Given the description of an element on the screen output the (x, y) to click on. 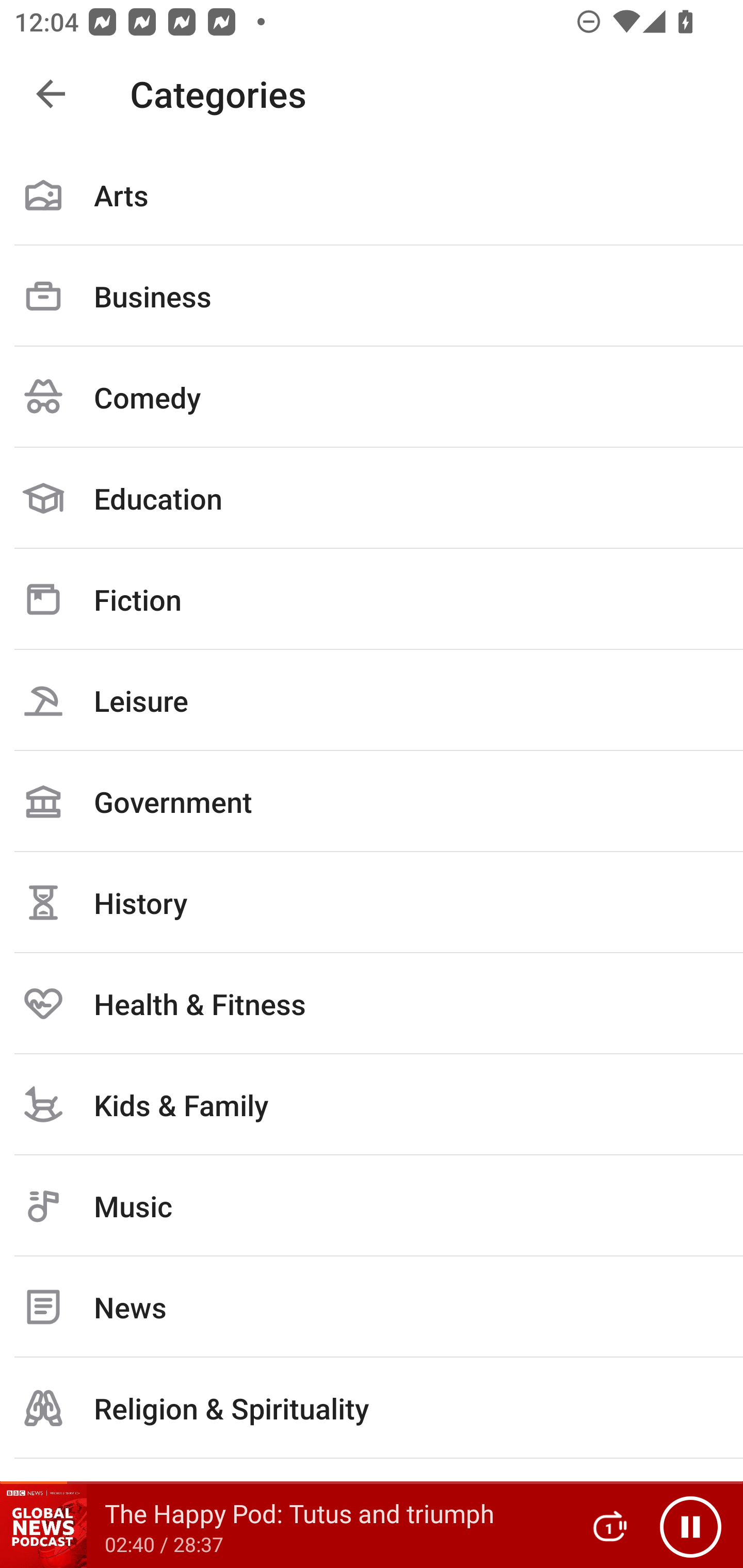
Navigate up (50, 93)
Arts (371, 195)
Business (371, 296)
Comedy (371, 397)
Education (371, 498)
Fiction (371, 598)
Leisure (371, 700)
Government (371, 801)
History (371, 902)
Health & Fitness (371, 1003)
Kids & Family (371, 1104)
Music (371, 1205)
News (371, 1306)
Religion & Spirituality (371, 1407)
The Happy Pod: Tutus and triumph 02:40 / 28:37 (283, 1525)
Pause (690, 1526)
